Given the description of an element on the screen output the (x, y) to click on. 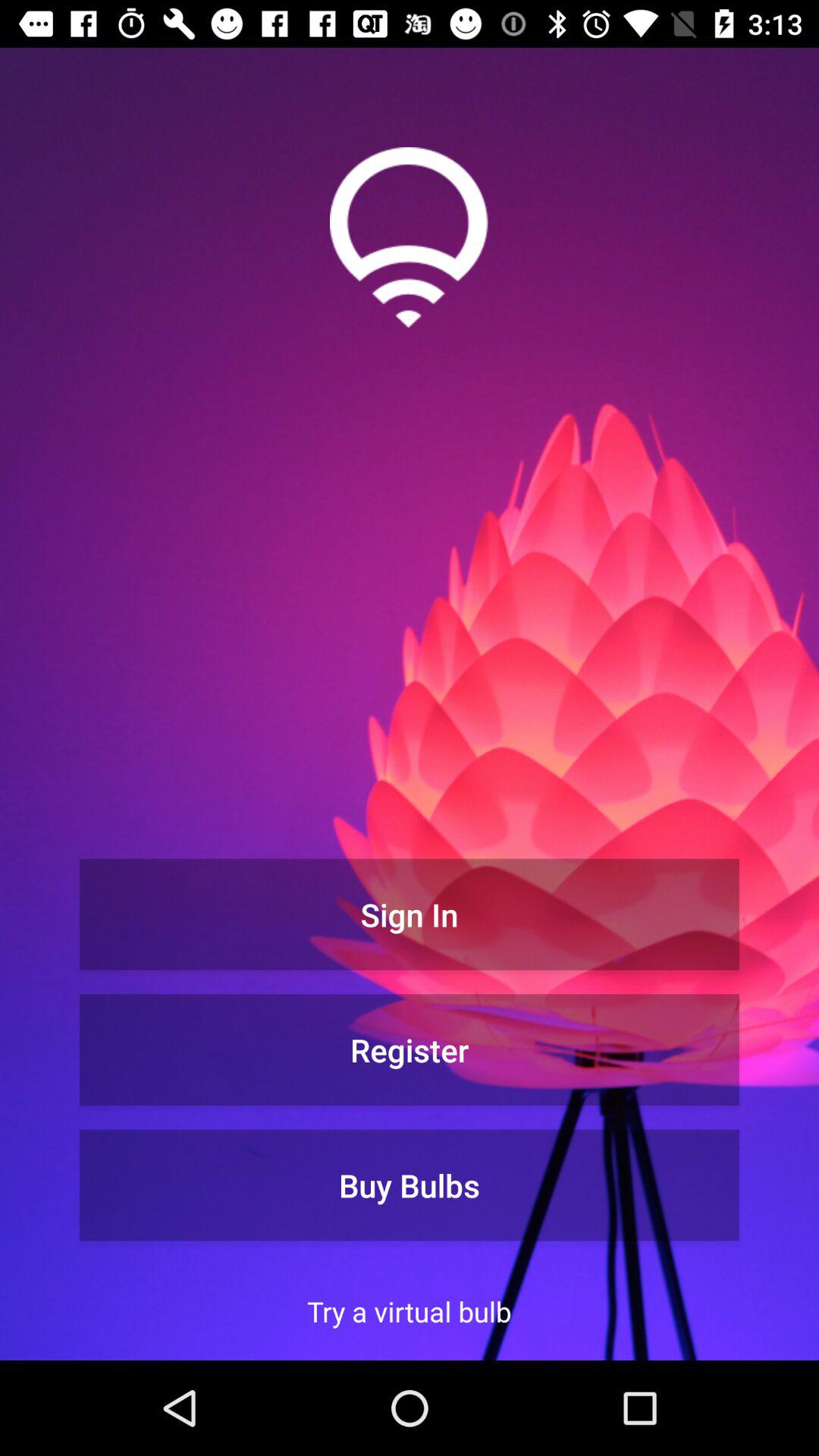
tap button below register icon (409, 1185)
